Given the description of an element on the screen output the (x, y) to click on. 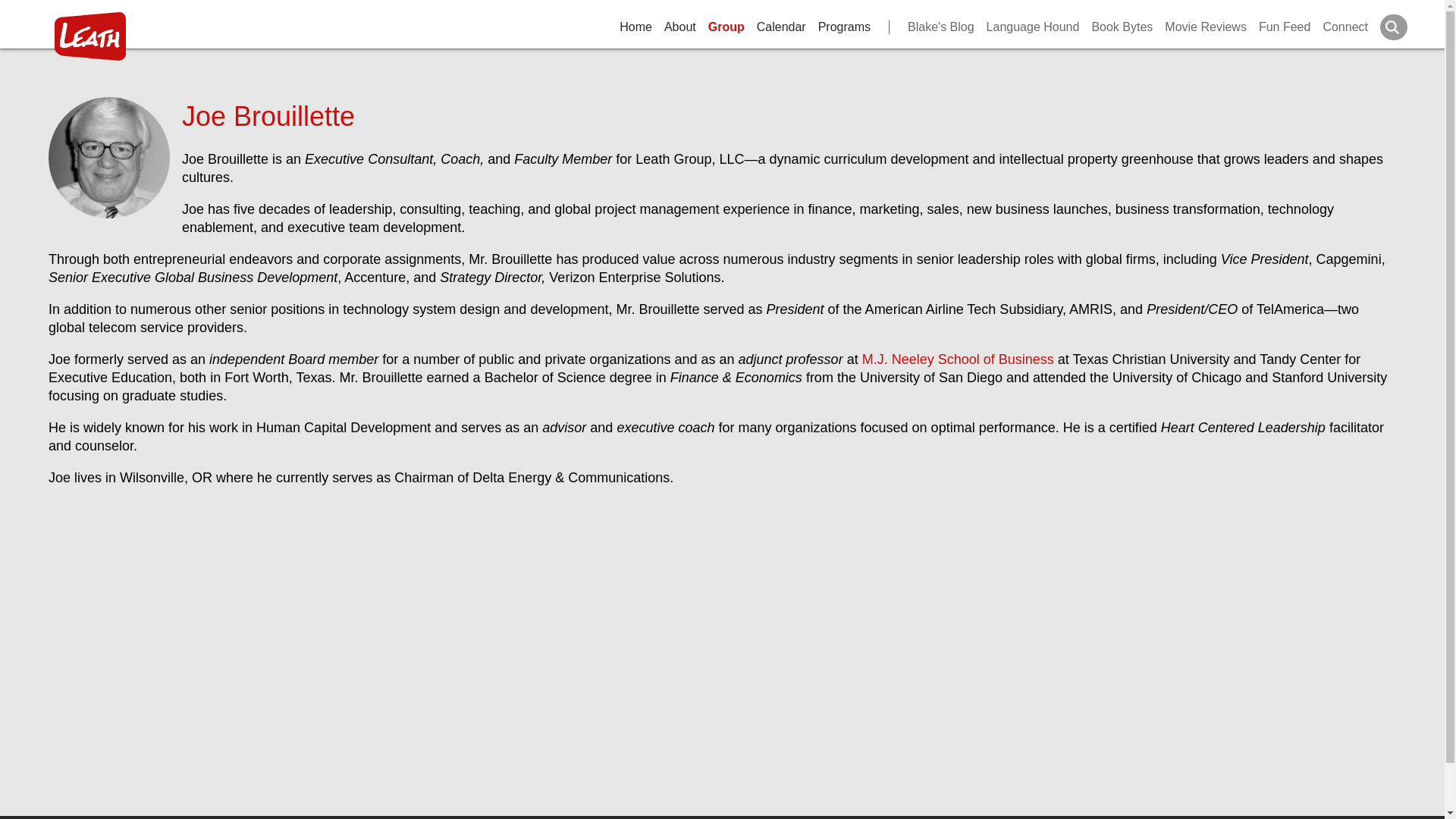
Movie Reviews (1205, 27)
M.J. Neeley School of Business (959, 359)
Connect (1345, 27)
About (679, 27)
Home (636, 27)
Blake's Blog (931, 27)
Calendar (781, 27)
Language Hound (1033, 27)
Book Bytes (1121, 27)
Group (725, 27)
